Given the description of an element on the screen output the (x, y) to click on. 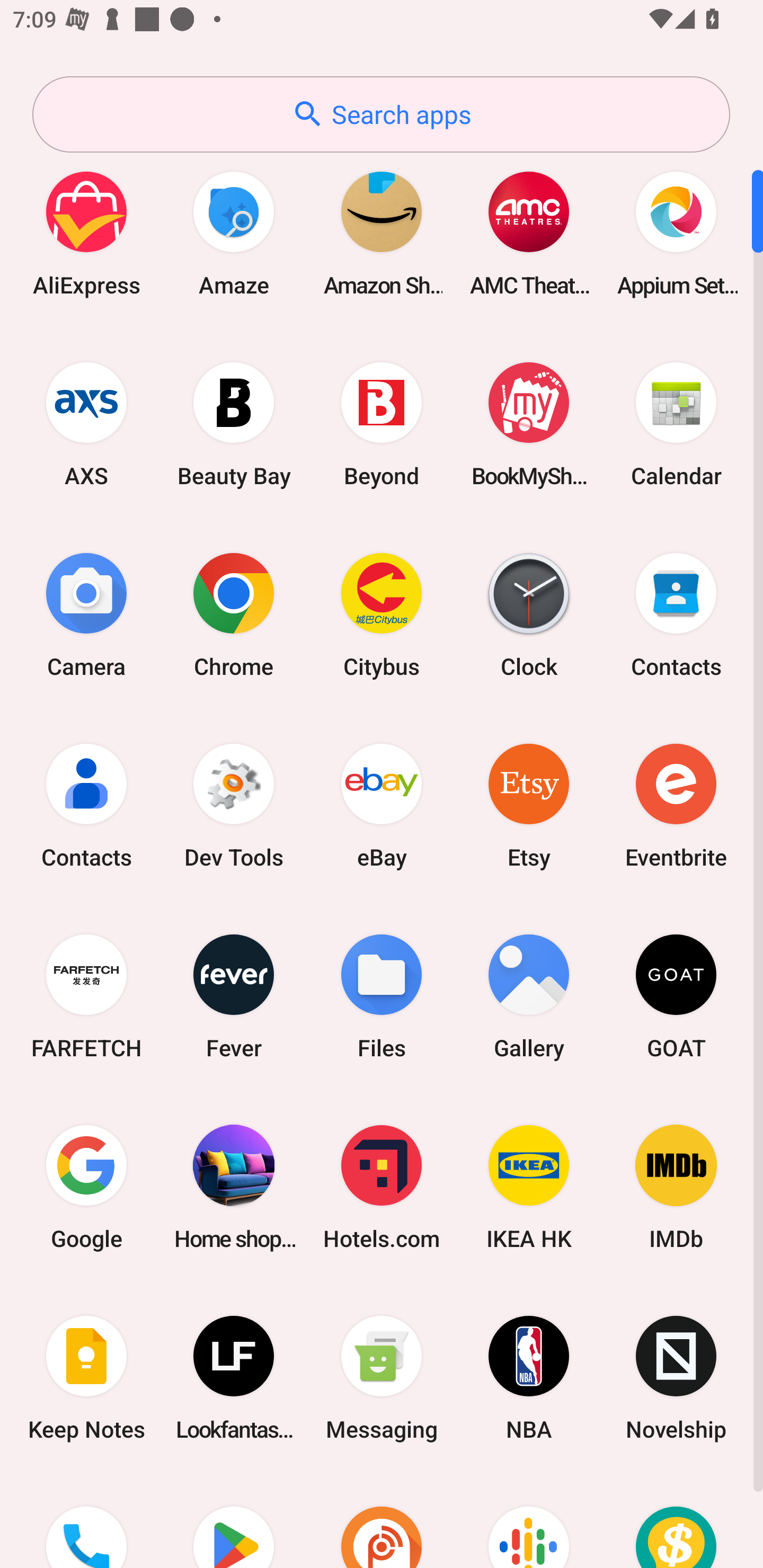
  Search apps (381, 114)
AliExpress (86, 233)
Amaze (233, 233)
Amazon Shopping (381, 233)
AMC Theatres (528, 233)
Appium Settings (676, 233)
AXS (86, 424)
Beauty Bay (233, 424)
Beyond (381, 424)
BookMyShow (528, 424)
Calendar (676, 424)
Camera (86, 614)
Chrome (233, 614)
Citybus (381, 614)
Clock (528, 614)
Contacts (676, 614)
Contacts (86, 805)
Dev Tools (233, 805)
eBay (381, 805)
Etsy (528, 805)
Eventbrite (676, 805)
FARFETCH (86, 996)
Fever (233, 996)
Files (381, 996)
Gallery (528, 996)
GOAT (676, 996)
Google (86, 1186)
Home shopping (233, 1186)
Hotels.com (381, 1186)
IKEA HK (528, 1186)
IMDb (676, 1186)
Keep Notes (86, 1377)
Lookfantastic (233, 1377)
Messaging (381, 1377)
NBA (528, 1377)
Novelship (676, 1377)
Phone (86, 1520)
Play Store (233, 1520)
Podcast Addict (381, 1520)
Podcasts (528, 1520)
Price (676, 1520)
